Given the description of an element on the screen output the (x, y) to click on. 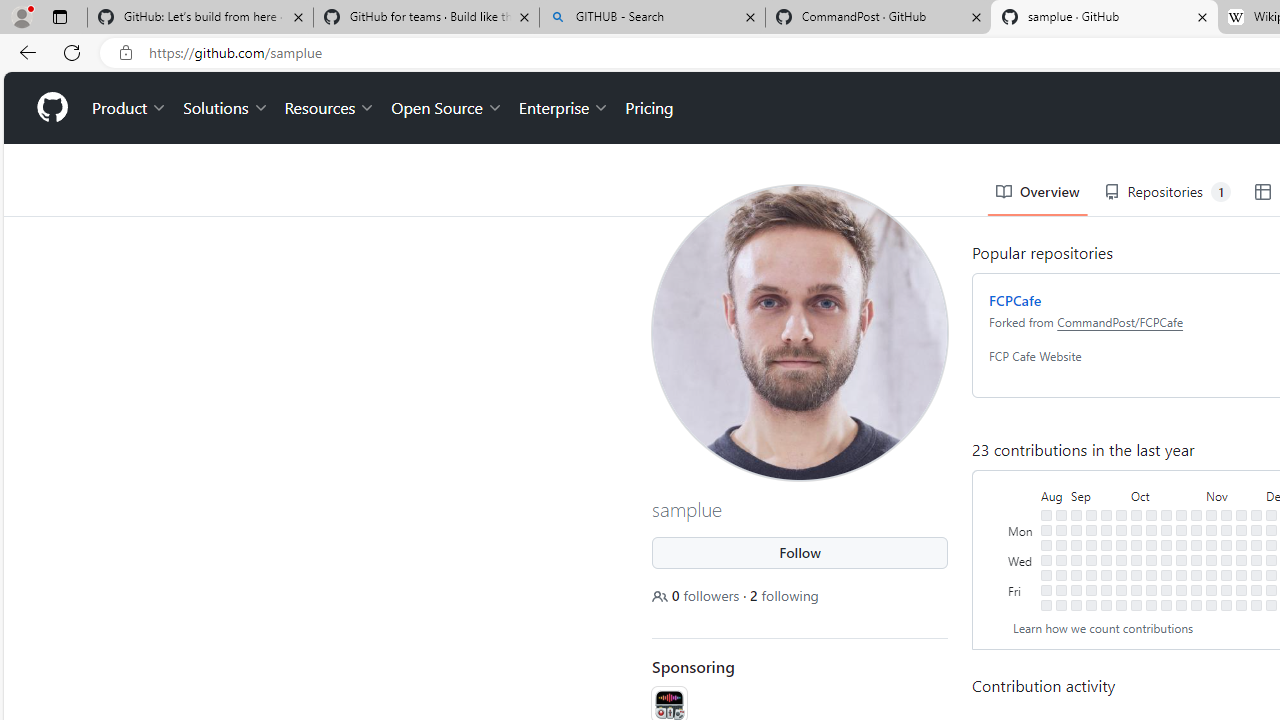
No contributions on September 7th. (1076, 574)
No contributions on November 29th. (1256, 559)
No contributions on October 2nd. (1136, 529)
No contributions on September 24th. (1121, 515)
No contributions on December 8th. (1271, 589)
No contributions on October 19th. (1166, 574)
No contributions on October 28th. (1181, 605)
No contributions on October 16th. (1166, 529)
Sunday (1022, 515)
No contributions on November 8th. (1211, 559)
Overview (1038, 192)
Pricing (649, 107)
No contributions on August 28th. (1061, 529)
No contributions on August 25th. (1046, 589)
August (1053, 493)
